Given the description of an element on the screen output the (x, y) to click on. 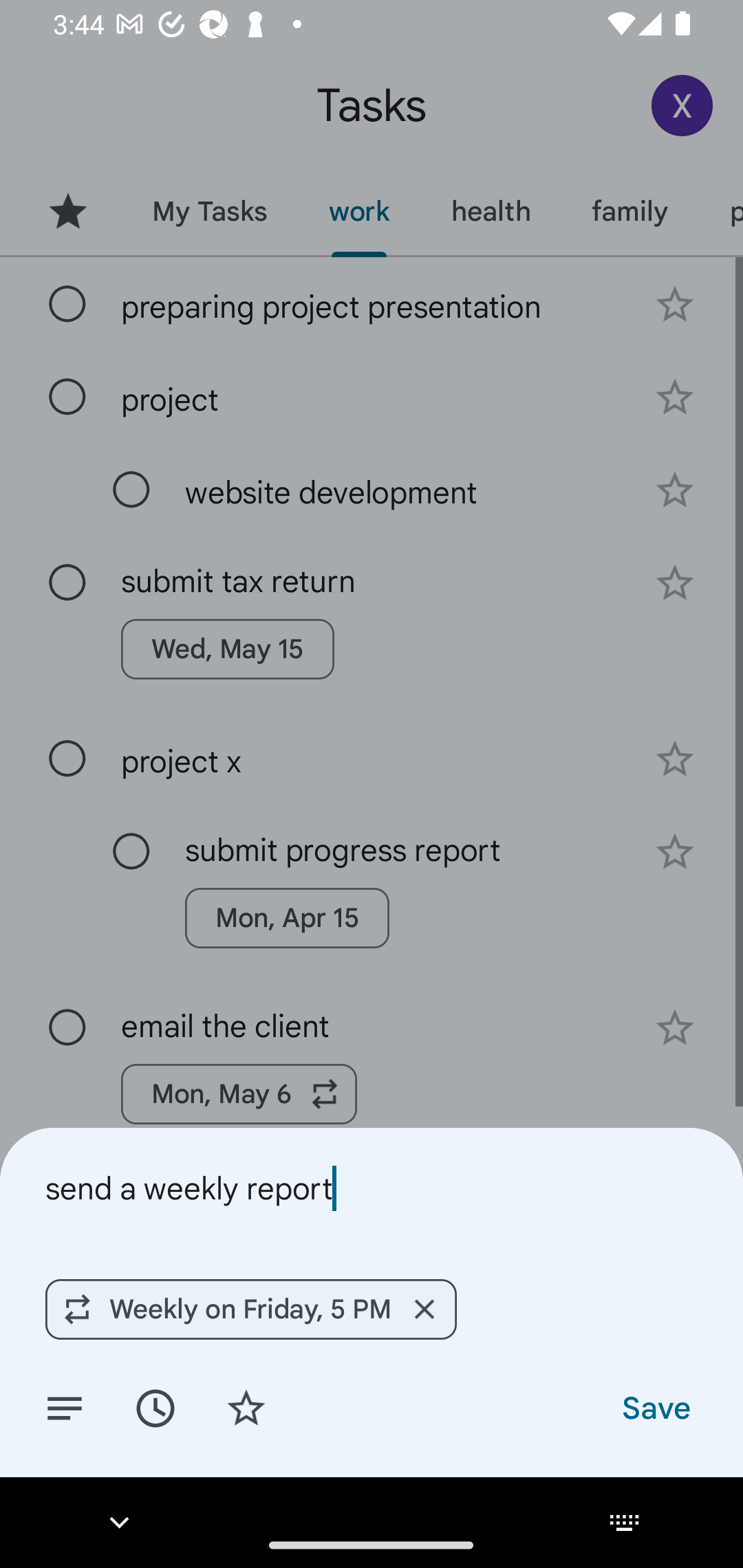
send a weekly report (371, 1188)
Save (655, 1407)
Add details (64, 1407)
Set date/time (154, 1407)
Add star (245, 1407)
